Given the description of an element on the screen output the (x, y) to click on. 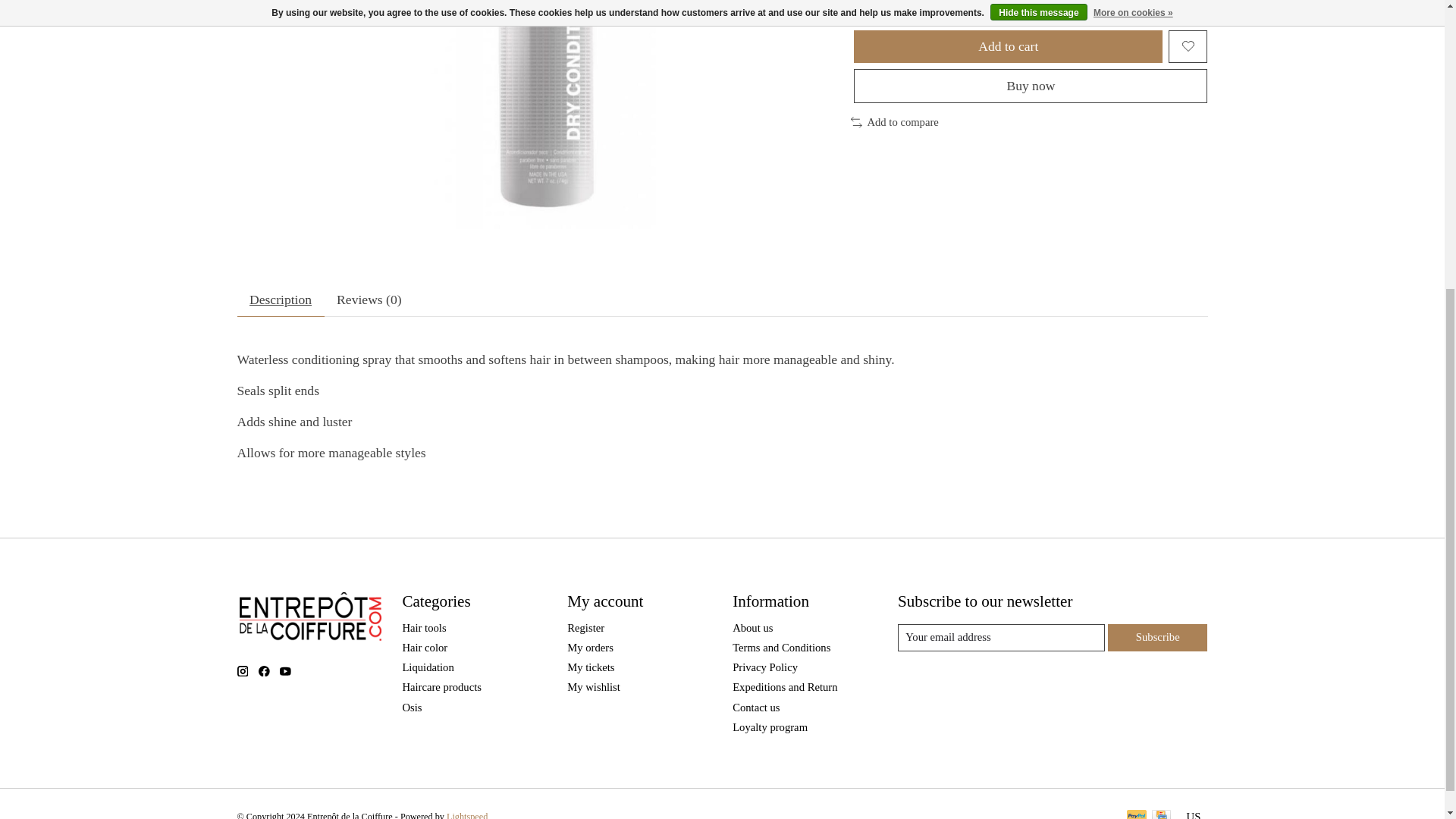
1 (886, 4)
Expeditions and Return (784, 686)
Register (585, 627)
My wishlist (593, 686)
Terms and Conditions (780, 647)
About us (752, 627)
Privacy Policy (764, 666)
My orders (589, 647)
My tickets (590, 666)
Contact us (755, 707)
